Given the description of an element on the screen output the (x, y) to click on. 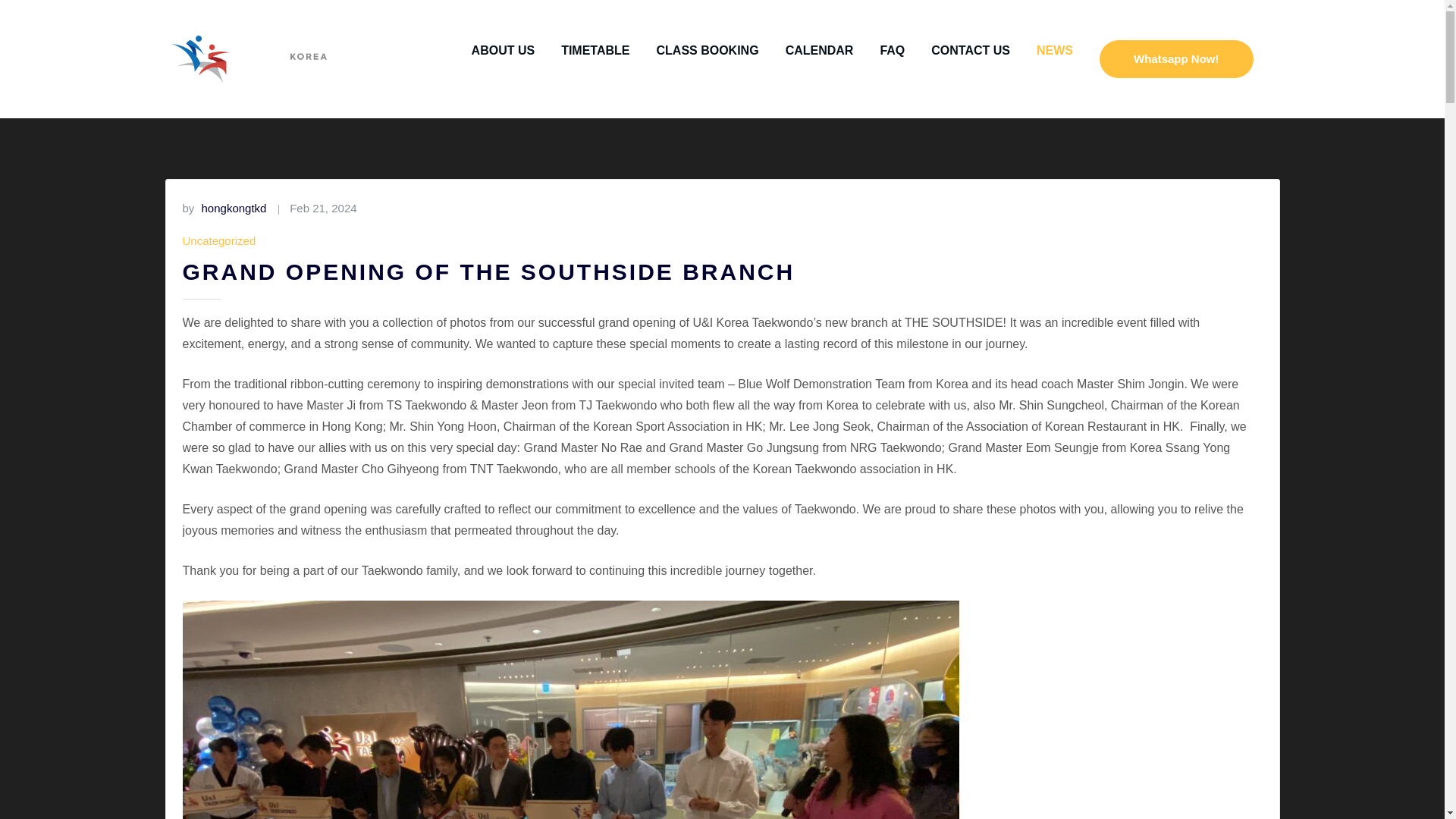
CONTACT US (970, 50)
Uncategorized (219, 240)
GRAND OPENING OF THE SOUTHSIDE BRANCH (488, 271)
NEWS (1054, 50)
Feb 21, 2024 (322, 208)
CLASS BOOKING (707, 50)
Whatsapp Now! (1176, 58)
Whatsapp Now! (1176, 58)
TIMETABLE (594, 50)
CALENDAR (819, 50)
ABOUT US (503, 50)
by hongkongtkd (224, 208)
